Given the description of an element on the screen output the (x, y) to click on. 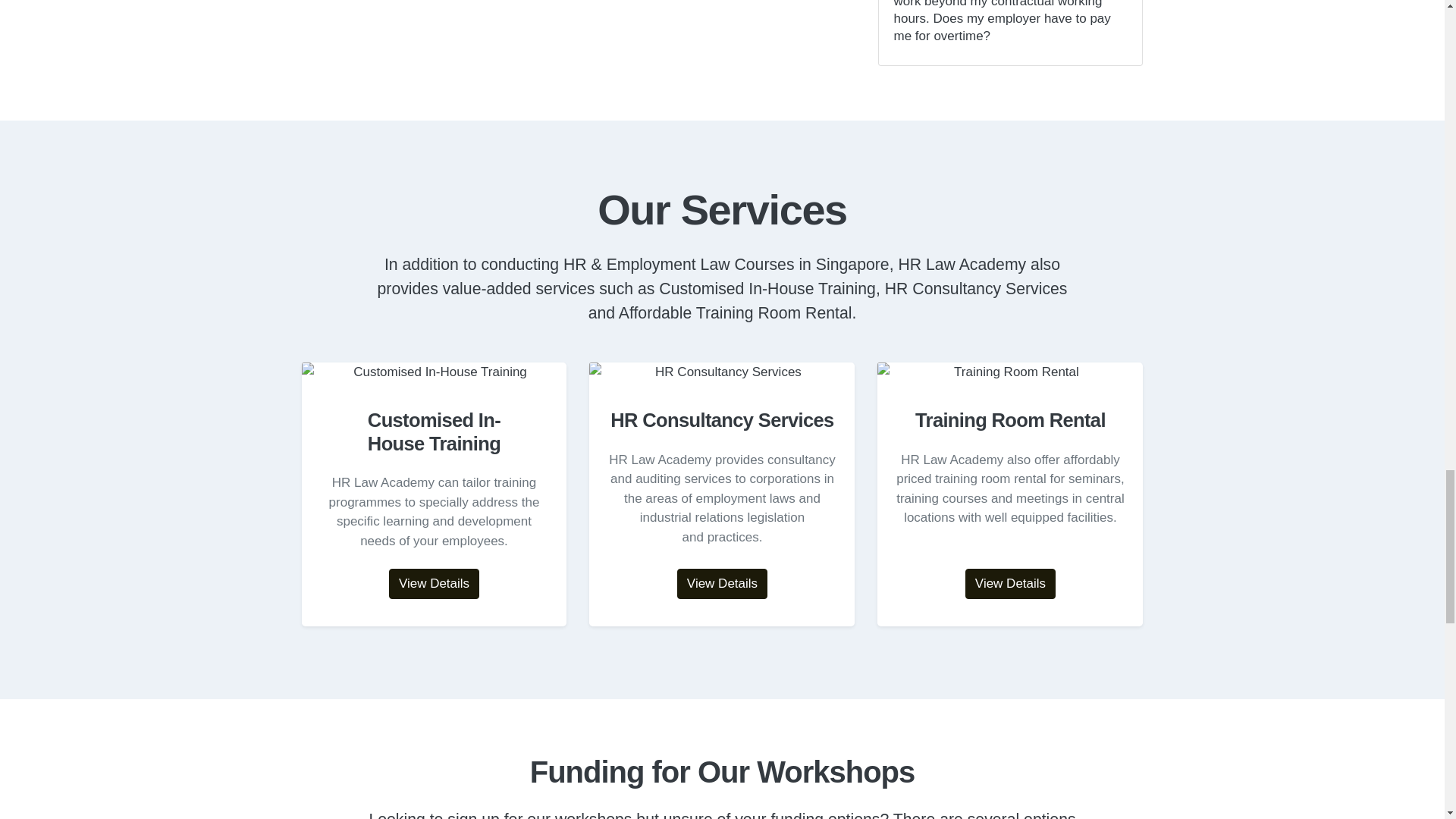
View Details (1010, 583)
View Details (433, 583)
View Details (722, 583)
